Given the description of an element on the screen output the (x, y) to click on. 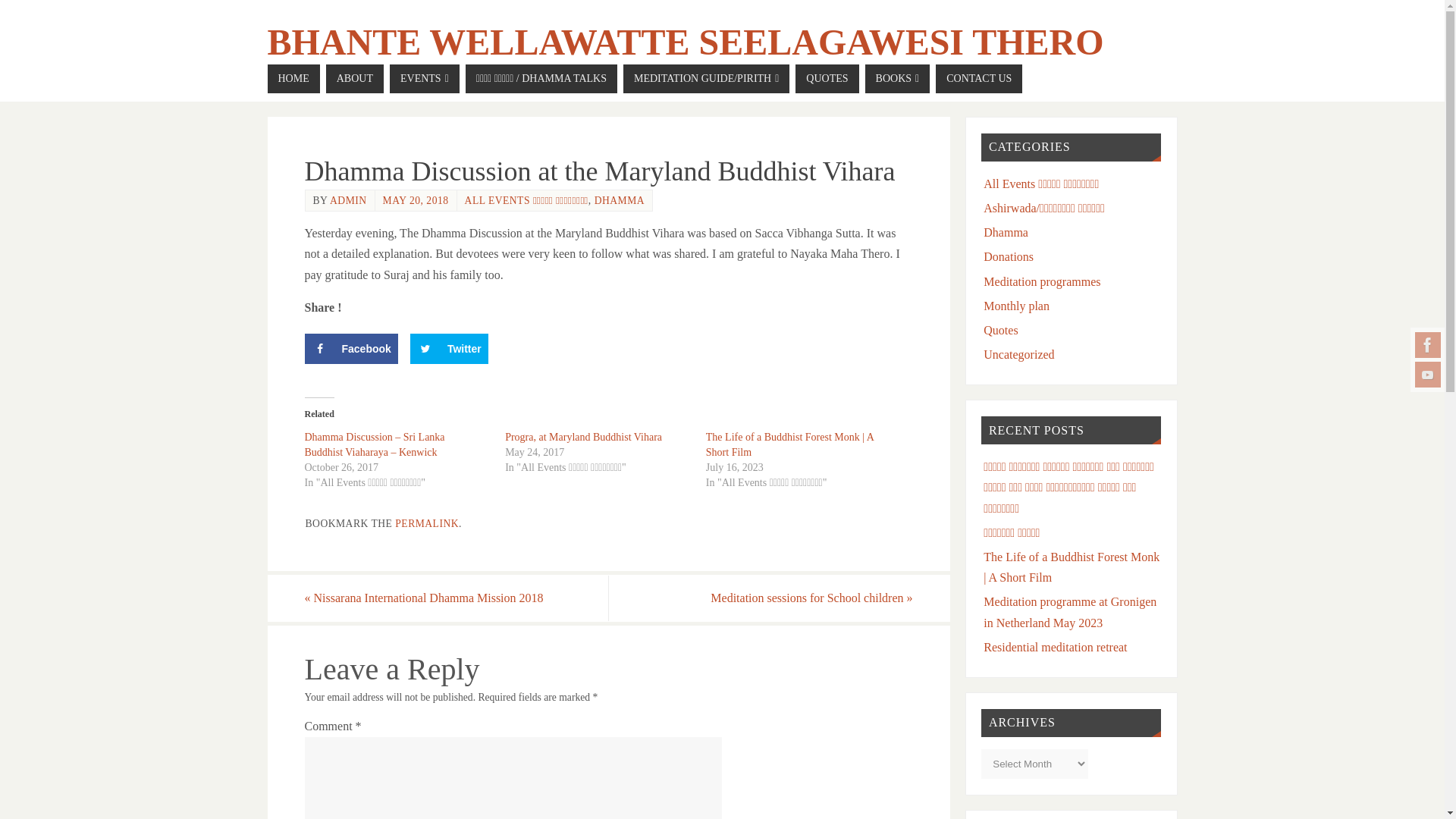
Share on Facebook (350, 348)
MAY 20, 2018 (415, 200)
QUOTES (826, 78)
BHANTE WELLAWATTE SEELAGAWESI THERO (684, 42)
HOME (292, 78)
View all posts by admin (348, 200)
PERMALINK (426, 523)
Youtube (1428, 374)
DHAMMA (619, 200)
